Given the description of an element on the screen output the (x, y) to click on. 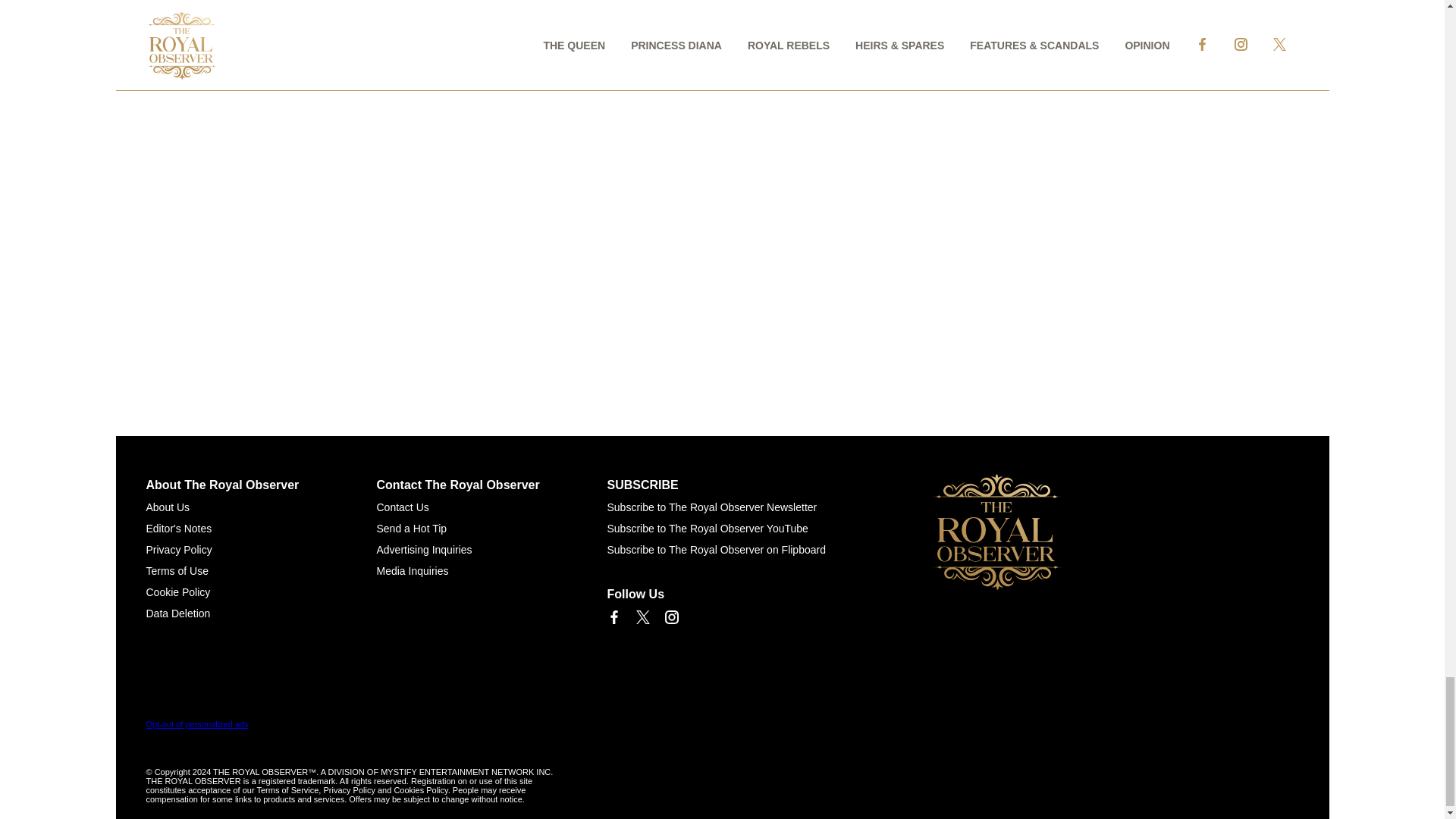
Editor's Notes (178, 528)
Link to Instagram (670, 617)
Terms of Use (176, 571)
Cookie Policy (177, 592)
Link to X (641, 617)
Privacy Policy (178, 549)
Contact Us (401, 507)
About Us (167, 507)
Link to Facebook (613, 617)
Data Deletion (177, 613)
